Given the description of an element on the screen output the (x, y) to click on. 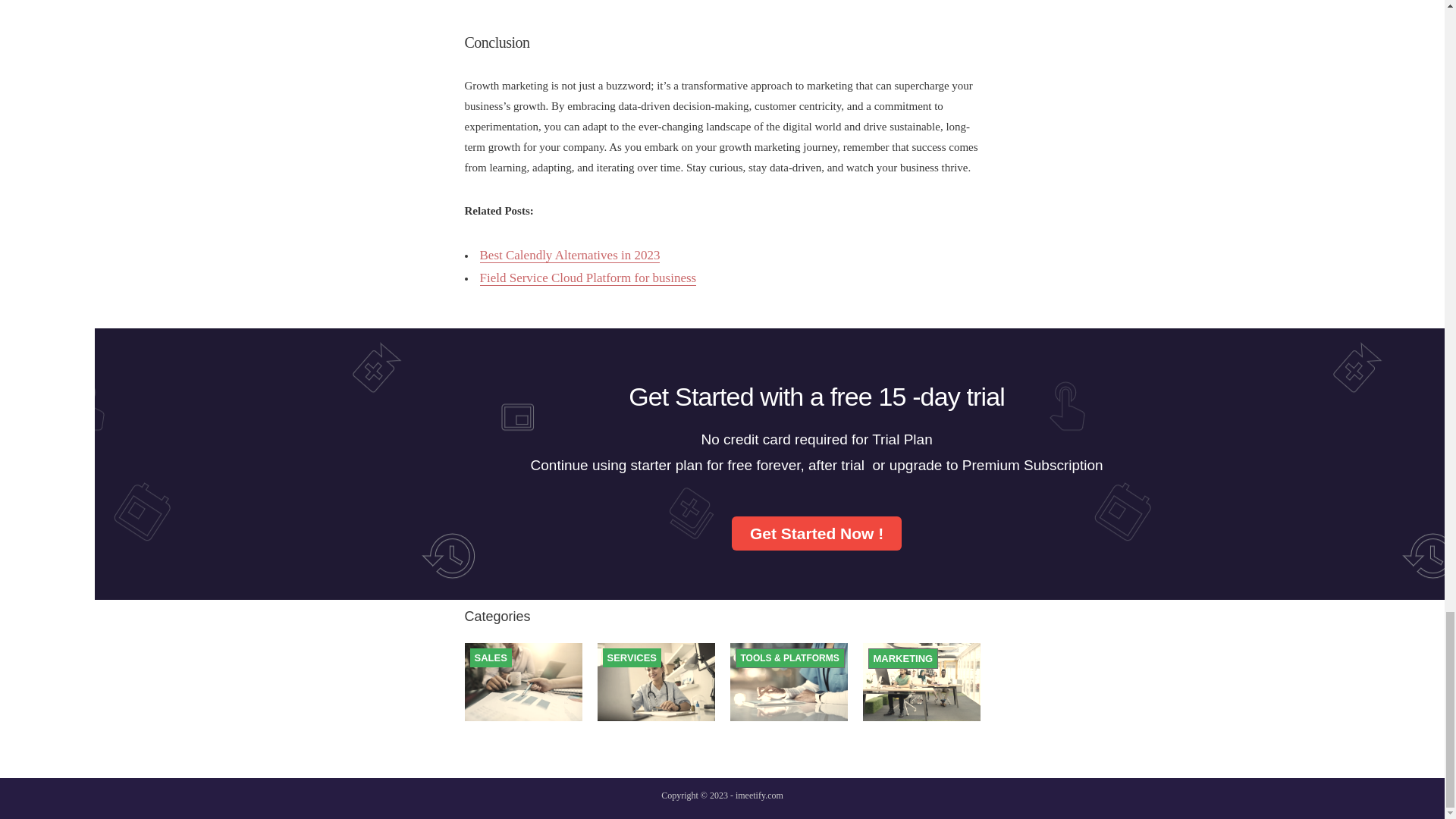
Get Started Now ! (816, 533)
Best Calendly Alternatives in 2023 (569, 254)
MARKETING (903, 658)
Field Service Cloud Platform for business (587, 278)
SERVICES (631, 657)
SALES (490, 657)
